Given the description of an element on the screen output the (x, y) to click on. 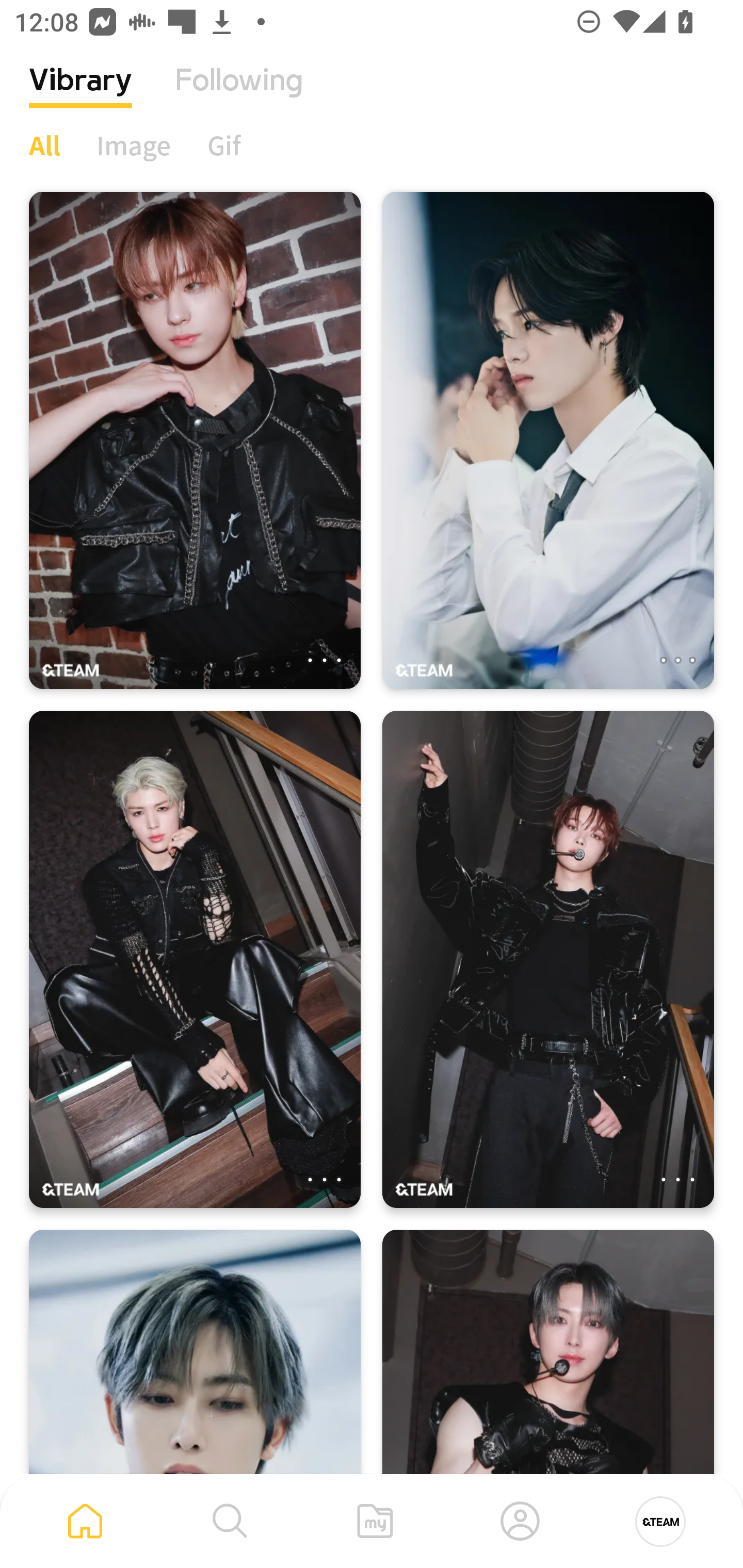
Vibrary (80, 95)
Following (239, 95)
All (44, 145)
Image (133, 145)
Gif (223, 145)
